Given the description of an element on the screen output the (x, y) to click on. 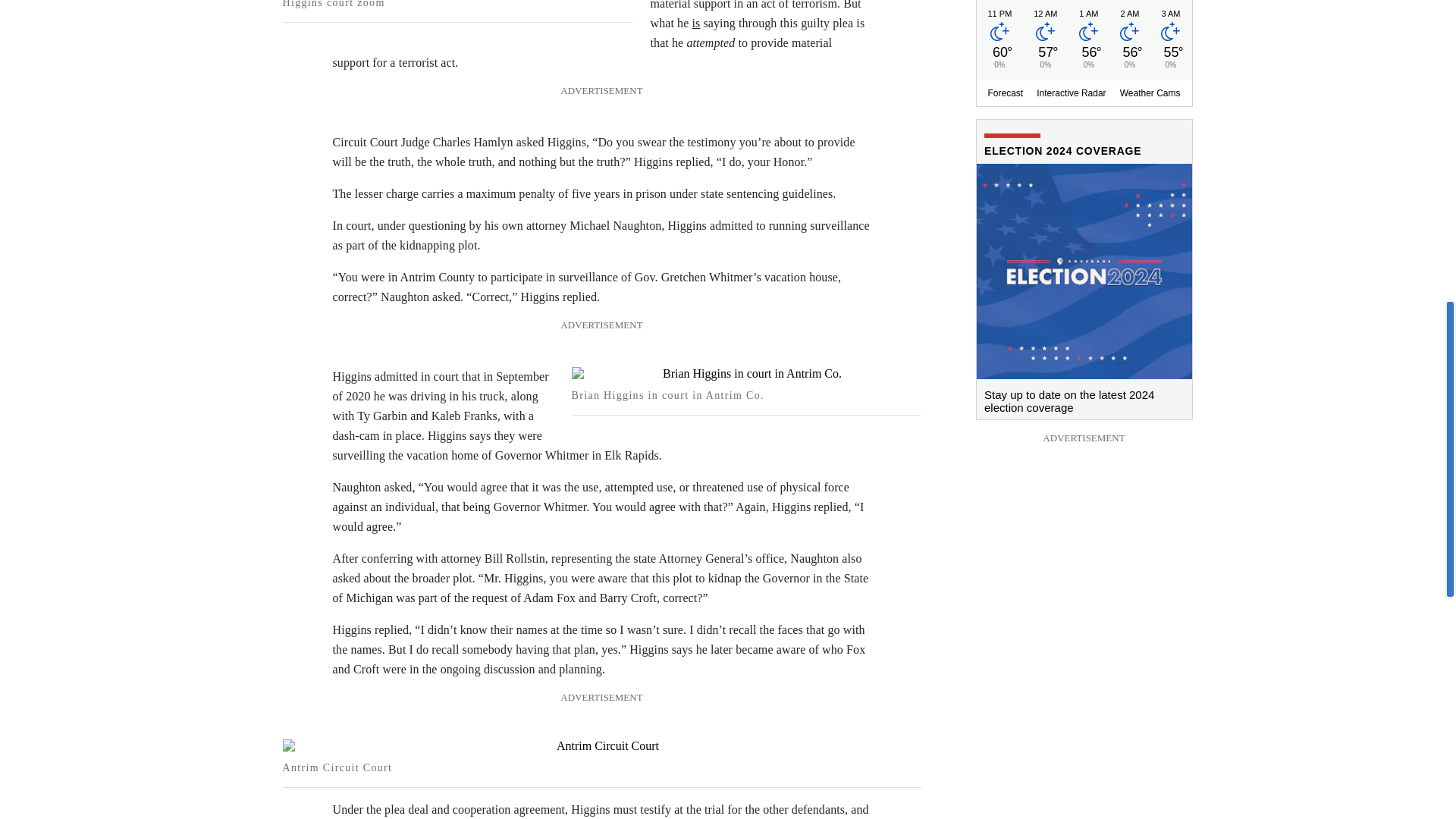
Election 2024 Coverage (1084, 396)
Clear (1169, 35)
Antrim Circuit Court (601, 745)
Clear (1044, 35)
Clear (999, 35)
Clear (1128, 35)
Election 2024 Coverage (1084, 271)
Brian Higgins in court in Antrim Co. (746, 373)
Clear (1087, 35)
